Given the description of an element on the screen output the (x, y) to click on. 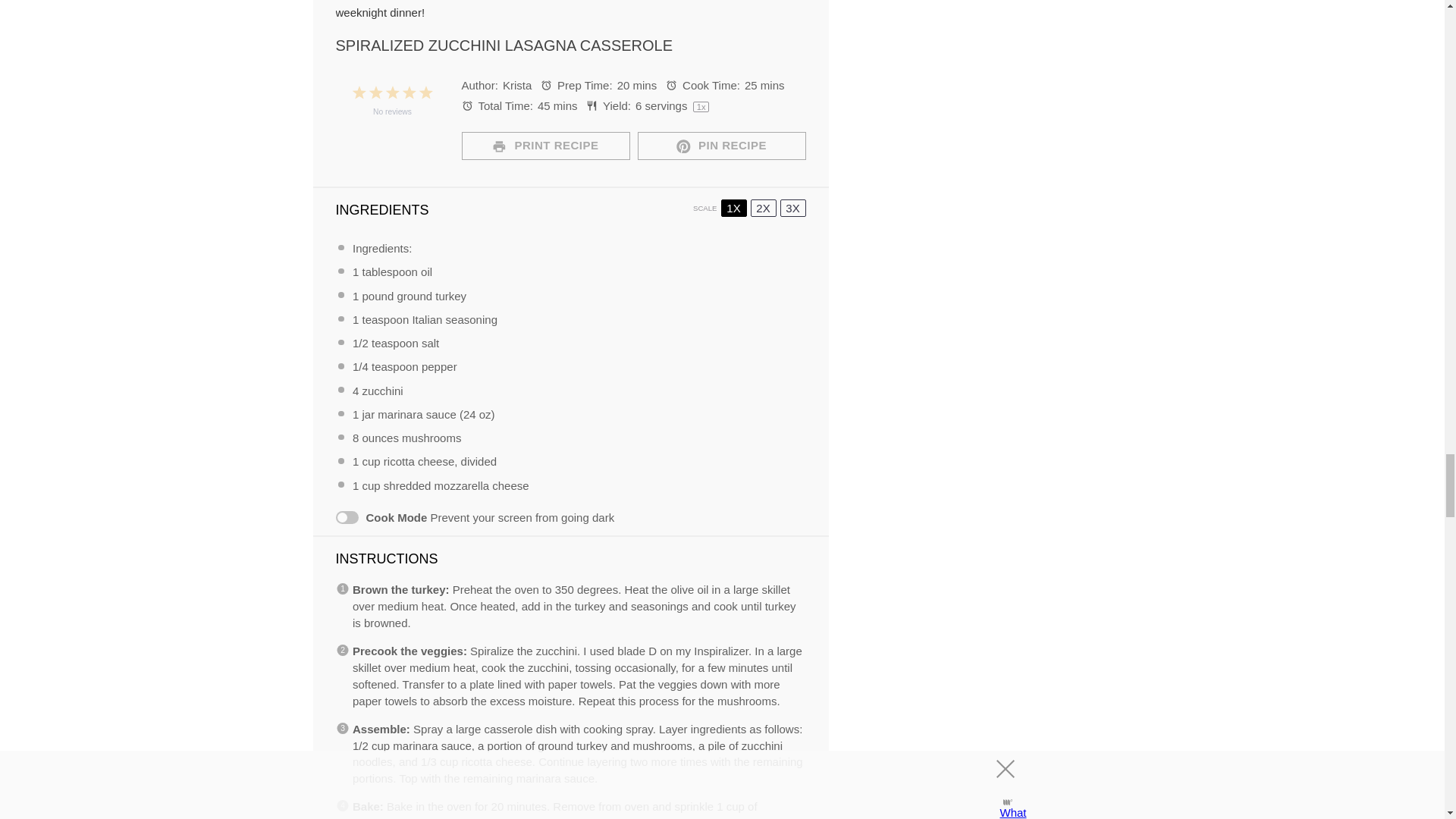
1X (732, 208)
PRINT RECIPE (544, 145)
2X (763, 208)
PIN RECIPE (721, 145)
3X (791, 208)
